Given the description of an element on the screen output the (x, y) to click on. 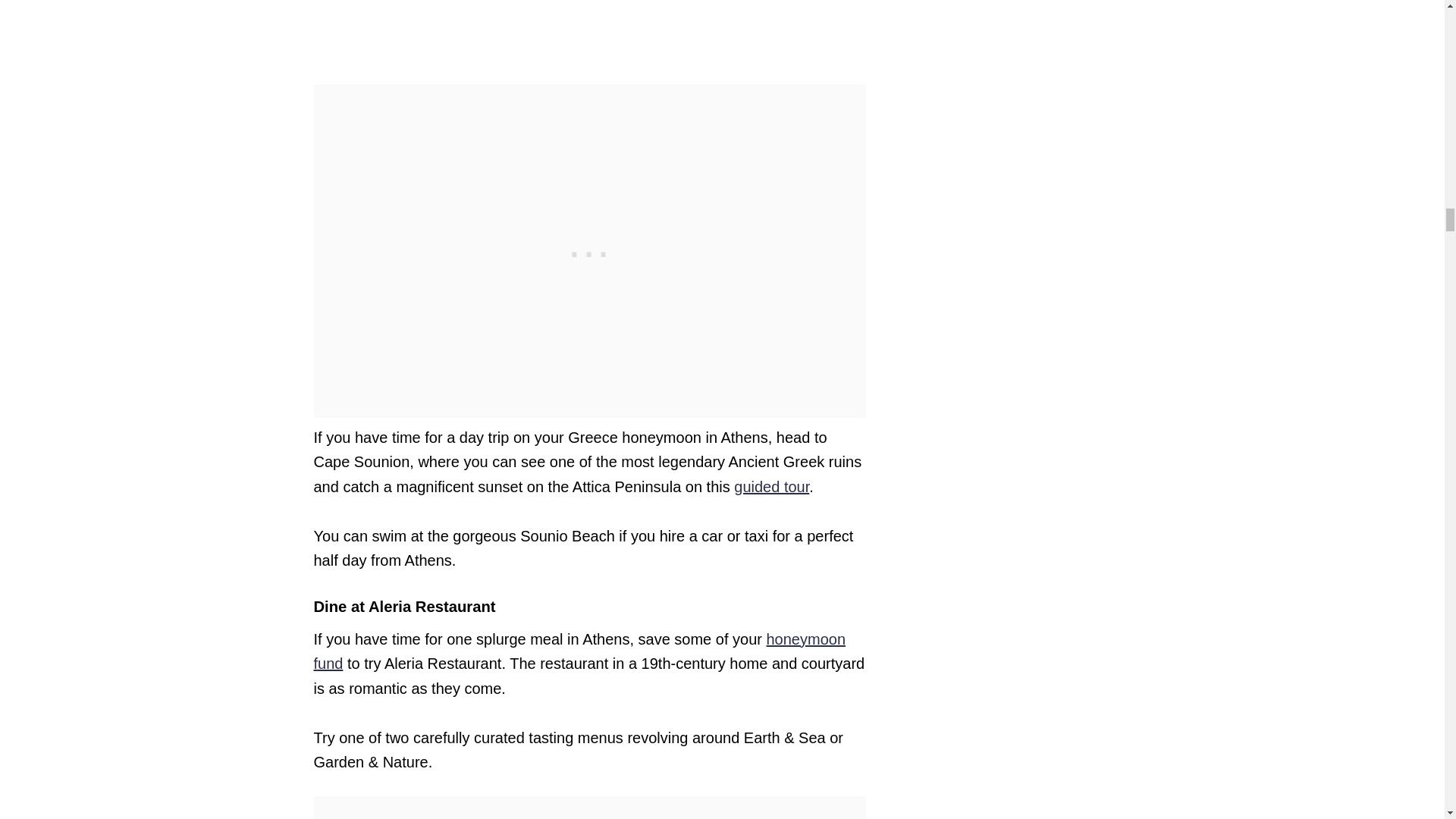
guided tour (771, 486)
honeymoon fund (579, 651)
